Given the description of an element on the screen output the (x, y) to click on. 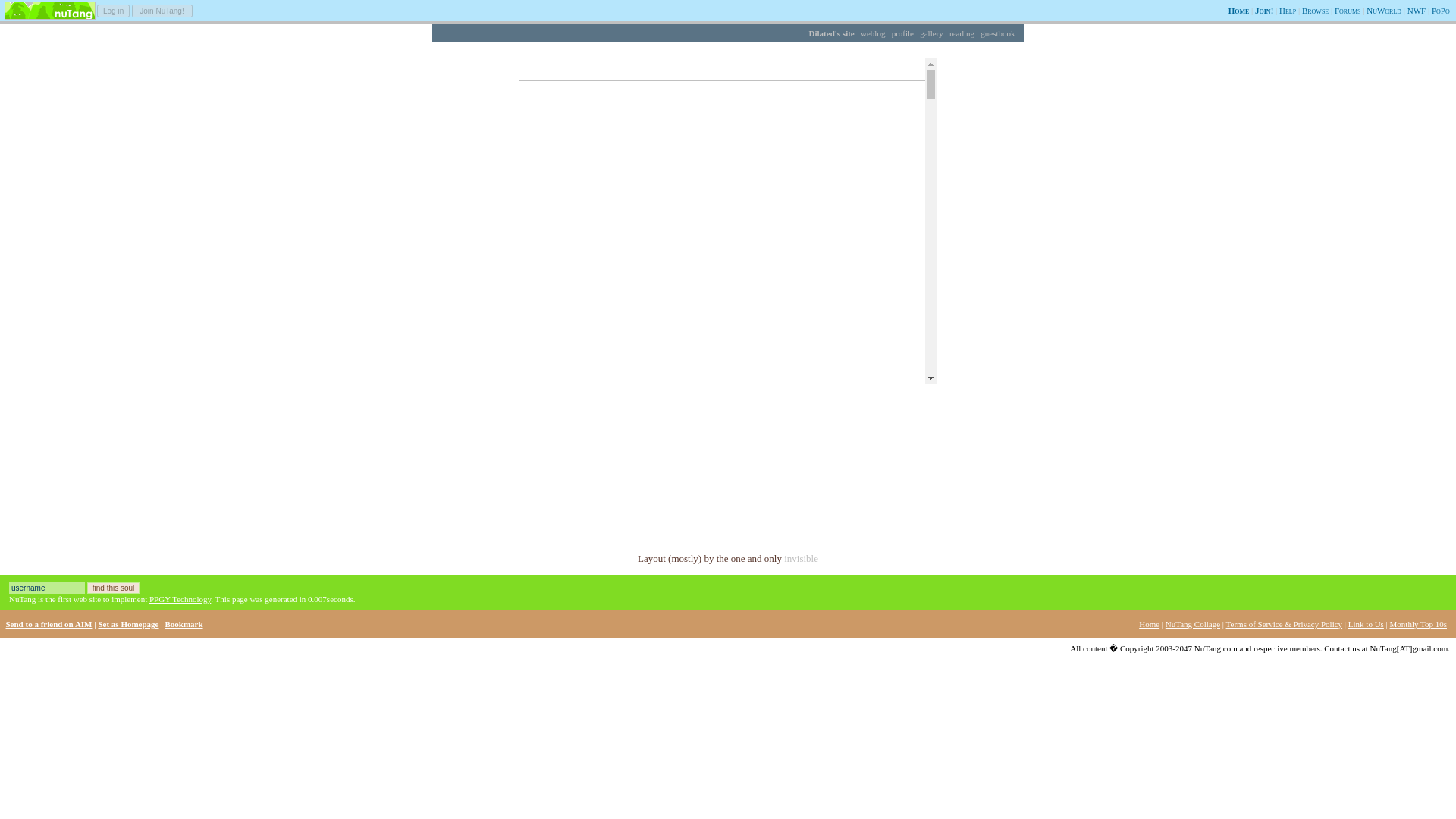
find this soul (113, 587)
gallery (931, 32)
Join! (1263, 10)
Home (1238, 10)
PoPo (1440, 10)
Browse (1314, 10)
reading (961, 32)
username (46, 587)
NWF (1416, 10)
guestbook (996, 32)
